Given the description of an element on the screen output the (x, y) to click on. 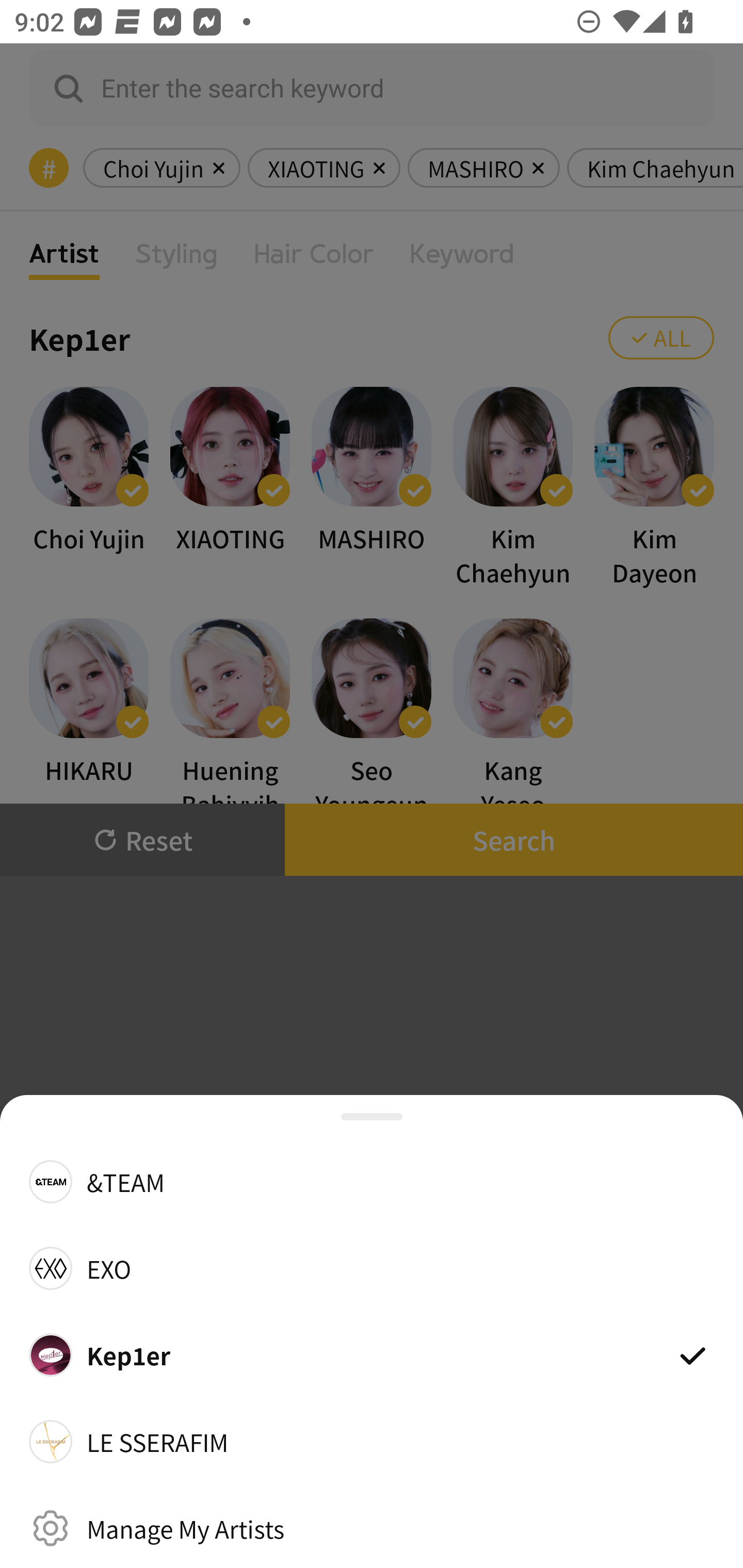
&TEAM (371, 1181)
EXO (371, 1268)
Kep1er (371, 1354)
LE SSERAFIM (371, 1441)
Manage My Artists (371, 1527)
